Given the description of an element on the screen output the (x, y) to click on. 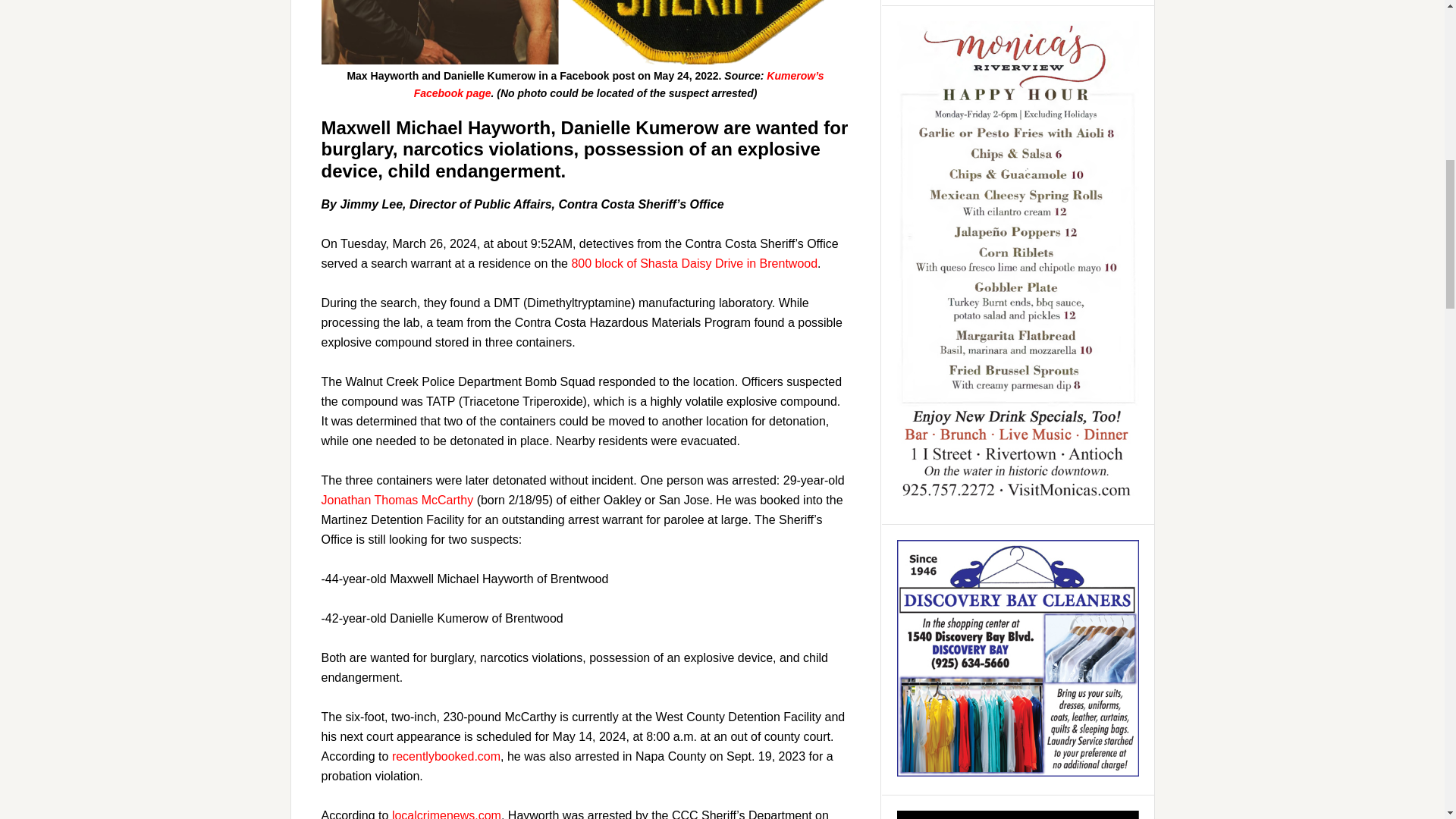
800 block of Shasta Daisy Drive in Brentwood (693, 263)
Jonathan Thomas McCarthy (397, 499)
localcrimenews.com (445, 814)
recentlybooked.com (445, 756)
